Given the description of an element on the screen output the (x, y) to click on. 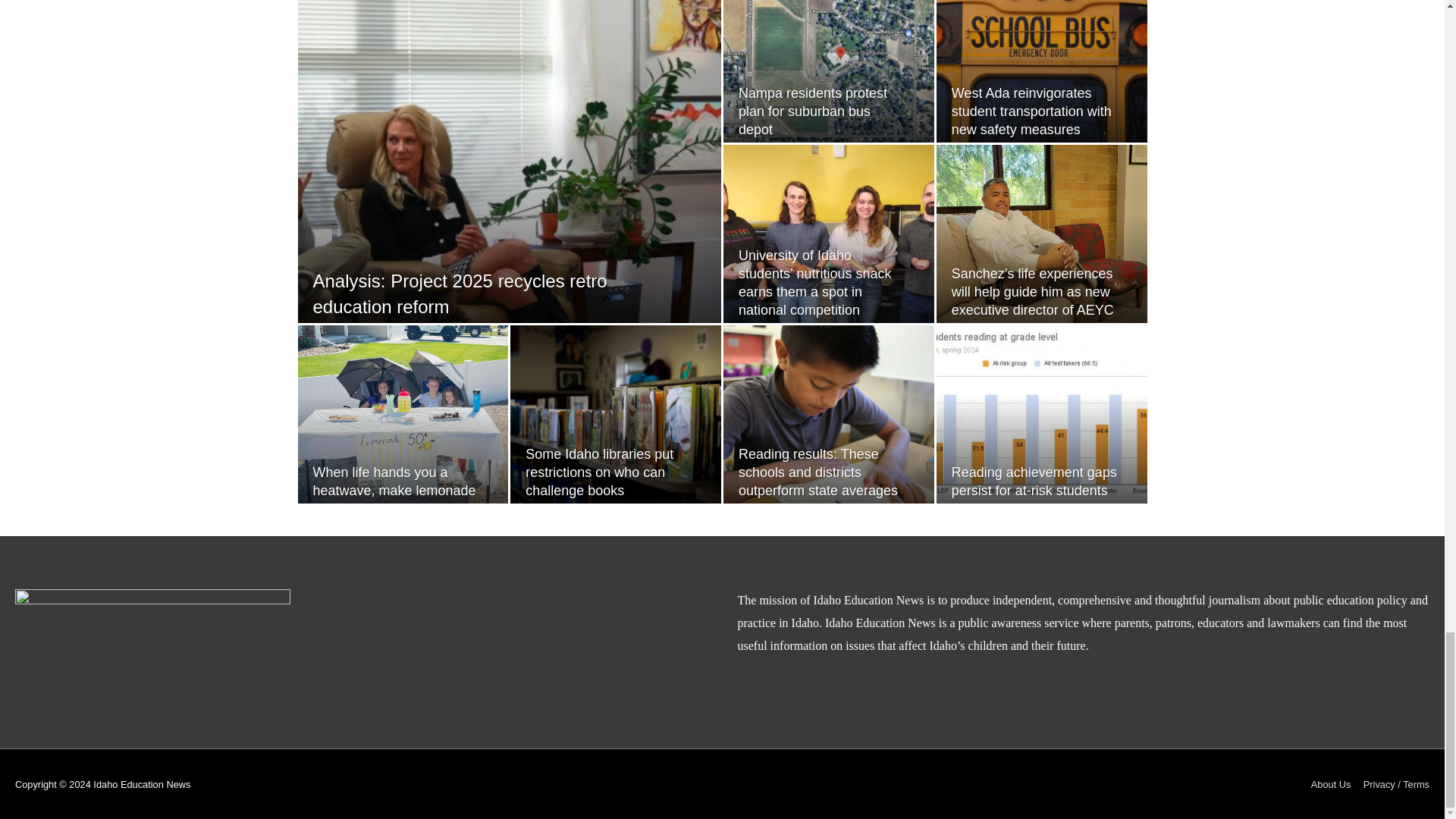
Analysis: Project 2025 recycles retro education reform (460, 293)
When life hands you a heatwave, make lemonade (394, 481)
Nampa residents protest plan for suburban bus depot (812, 111)
